Given the description of an element on the screen output the (x, y) to click on. 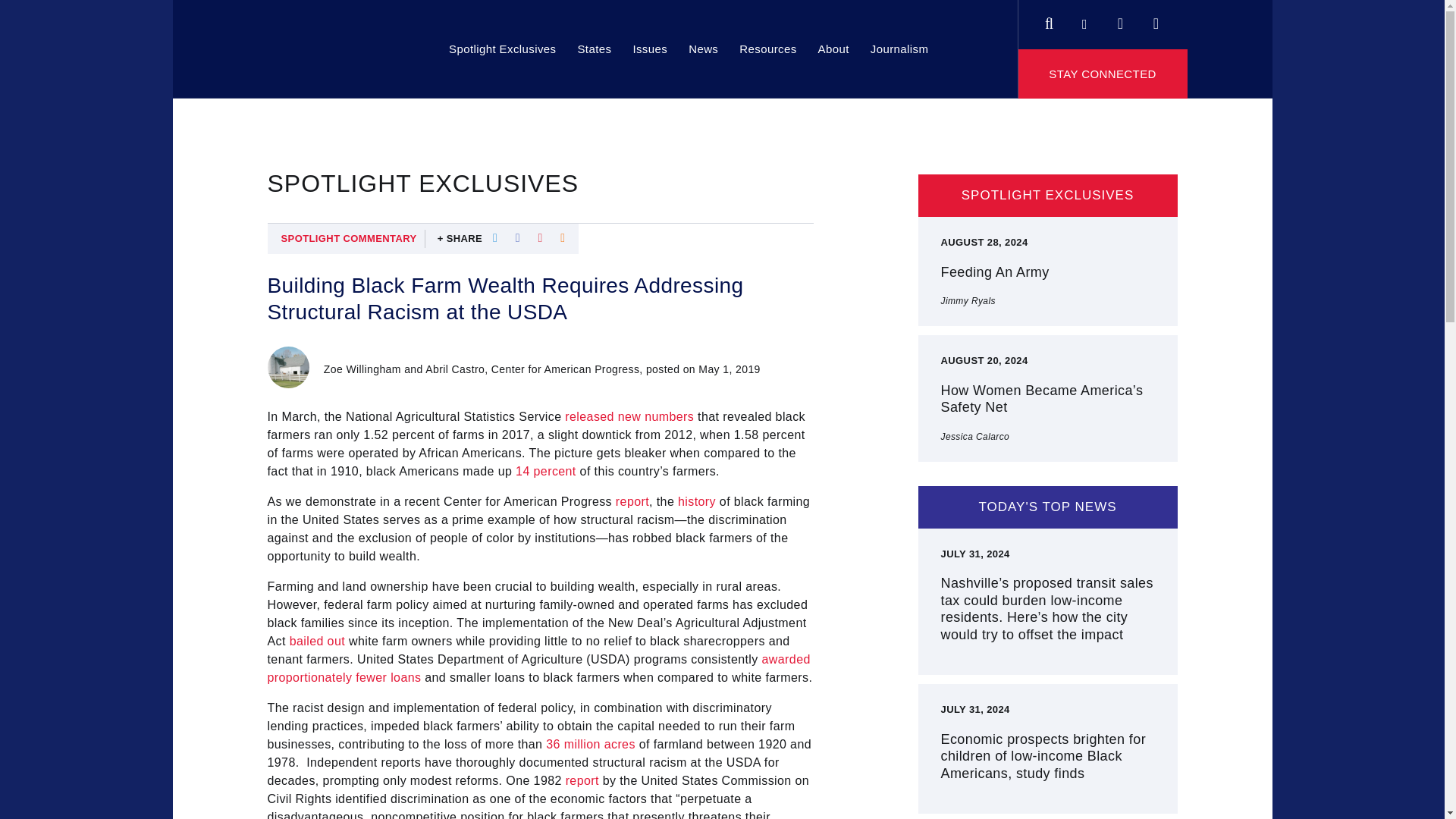
Spotlight on Poverty and Opportunity (308, 49)
SPOTLIGHT COMMENTARY (349, 239)
YouTube (1156, 15)
Watch us on YouTube (1156, 15)
Facebook (1084, 15)
STAY CONNECTED (1102, 73)
Follow us on Twitter (1119, 15)
Spotlight Exclusives (502, 49)
Twitter (1119, 15)
Join us on Facebook (1084, 15)
